Given the description of an element on the screen output the (x, y) to click on. 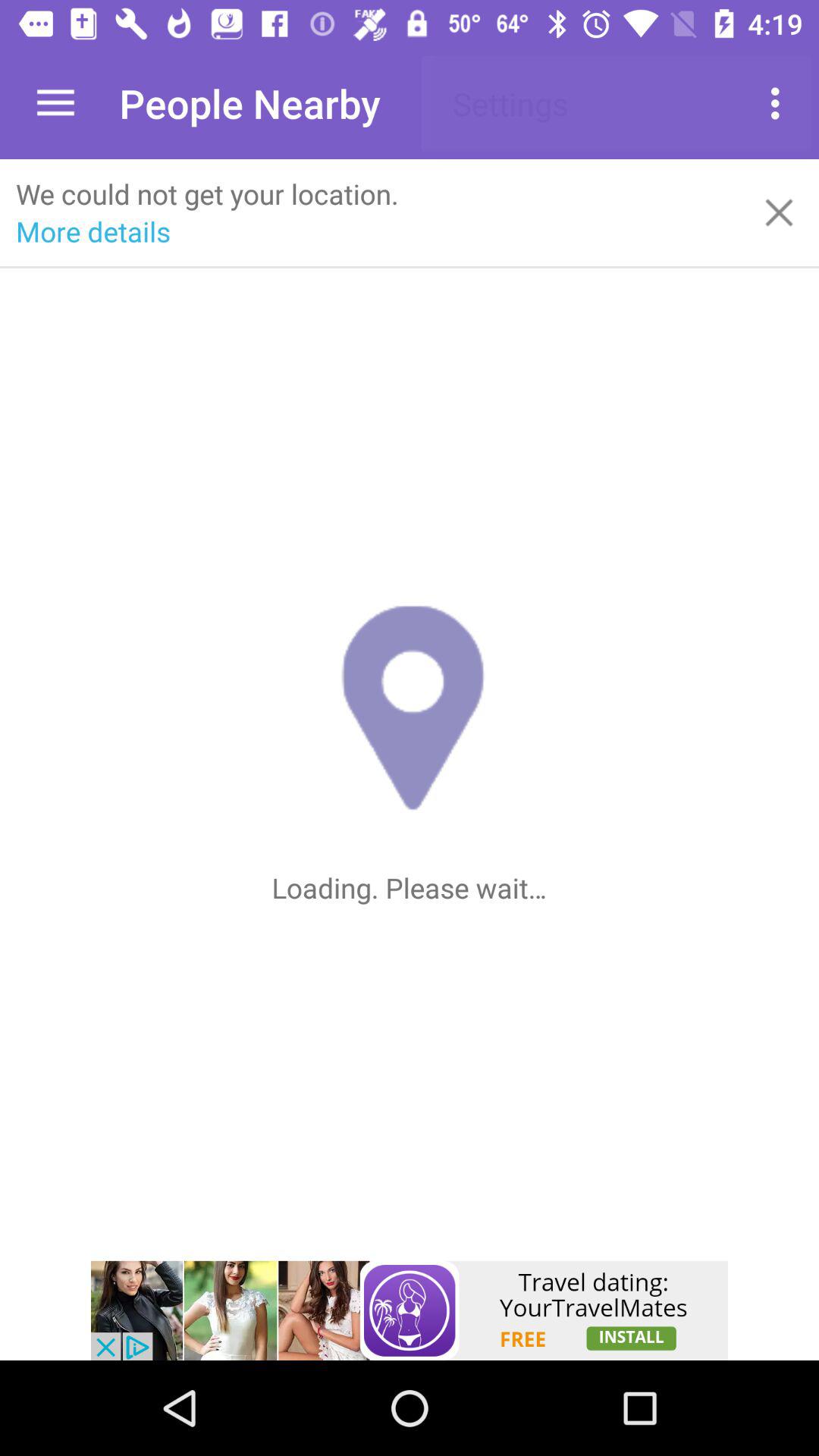
open advertisement (409, 1310)
